Given the description of an element on the screen output the (x, y) to click on. 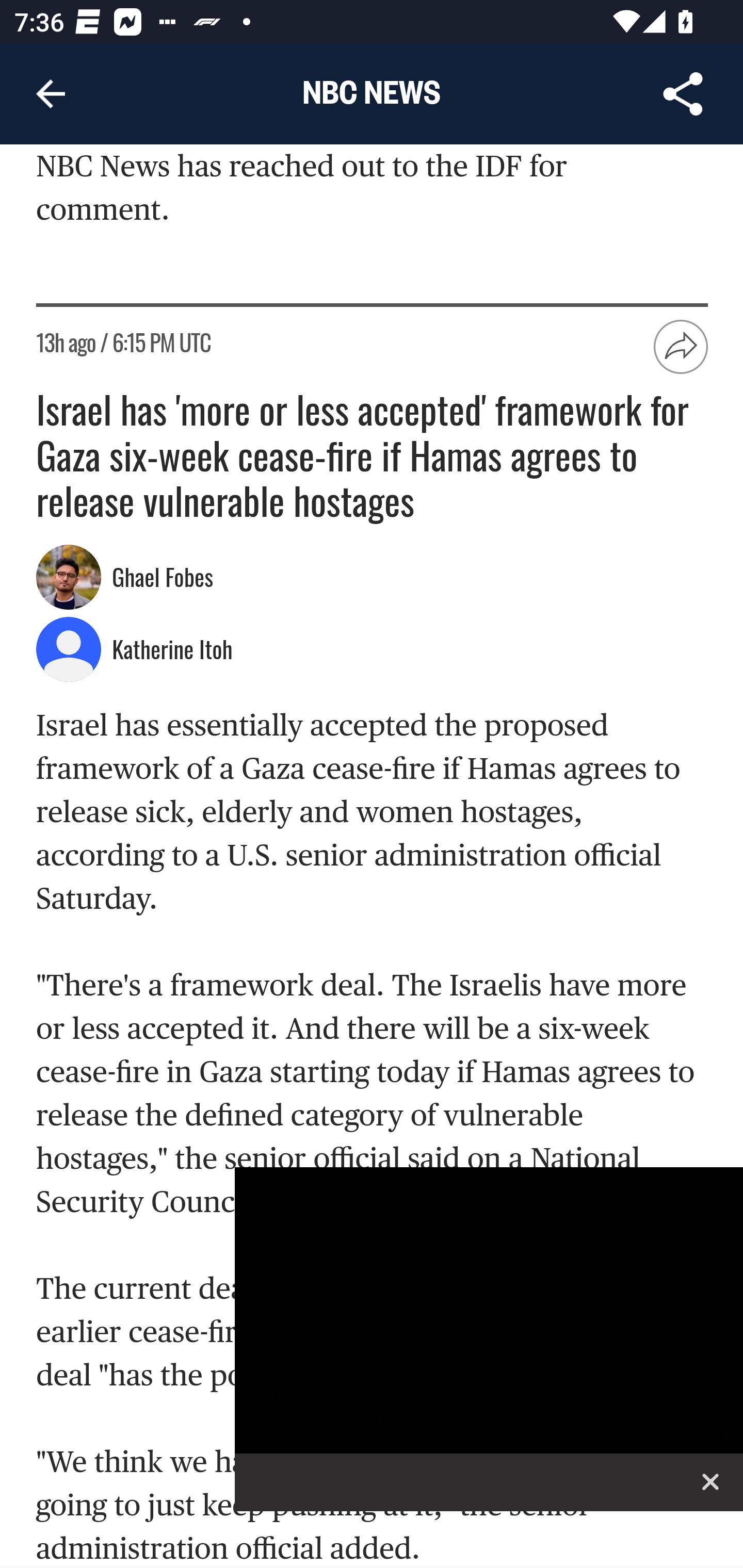
Navigate up (50, 93)
Share Article, button (683, 94)
open social share icon list (681, 347)
ghael-fobes-ncpn1300094 (69, 578)
Ghael Fobes (165, 578)
